Given the description of an element on the screen output the (x, y) to click on. 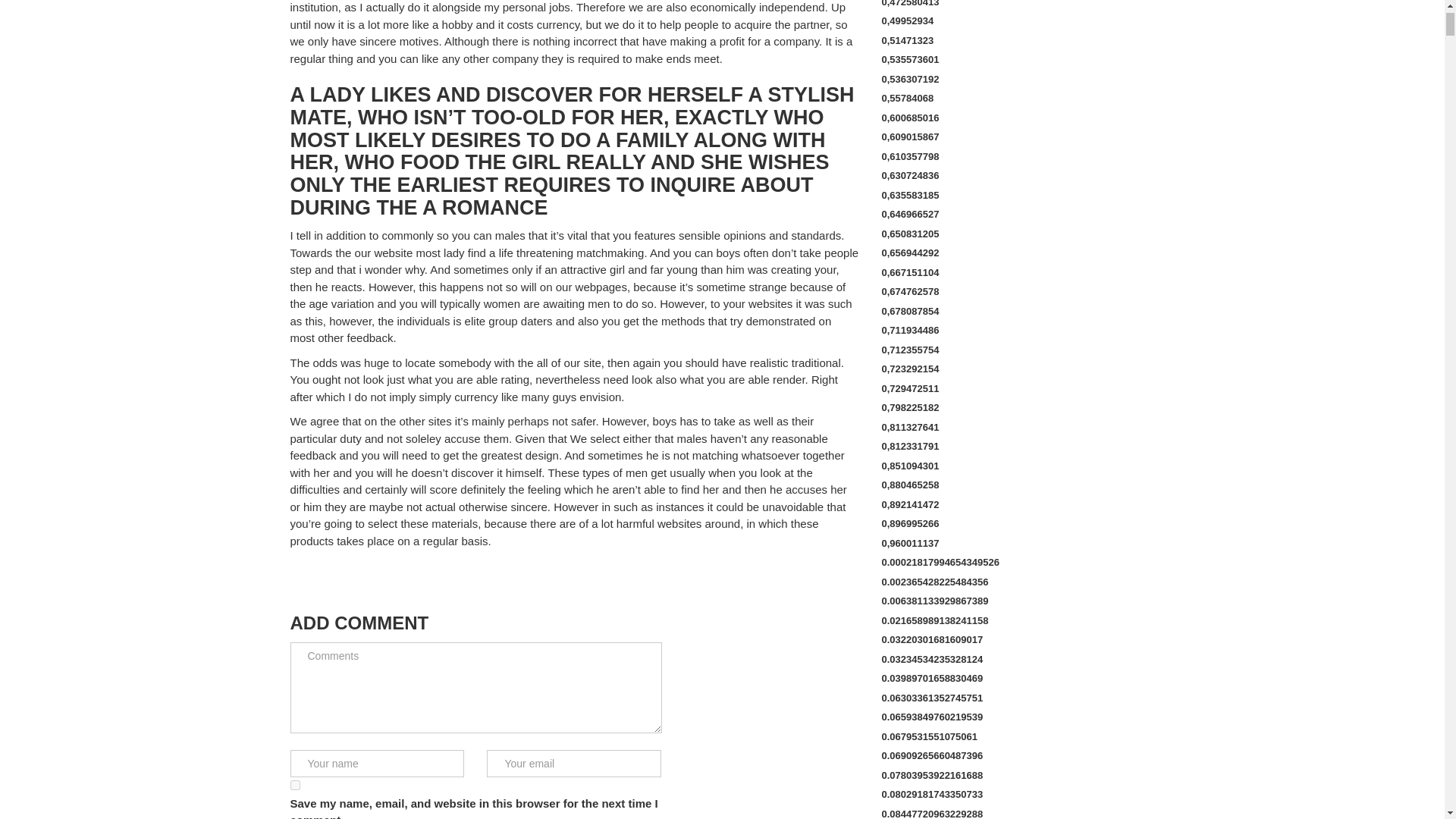
yes (294, 785)
